Given the description of an element on the screen output the (x, y) to click on. 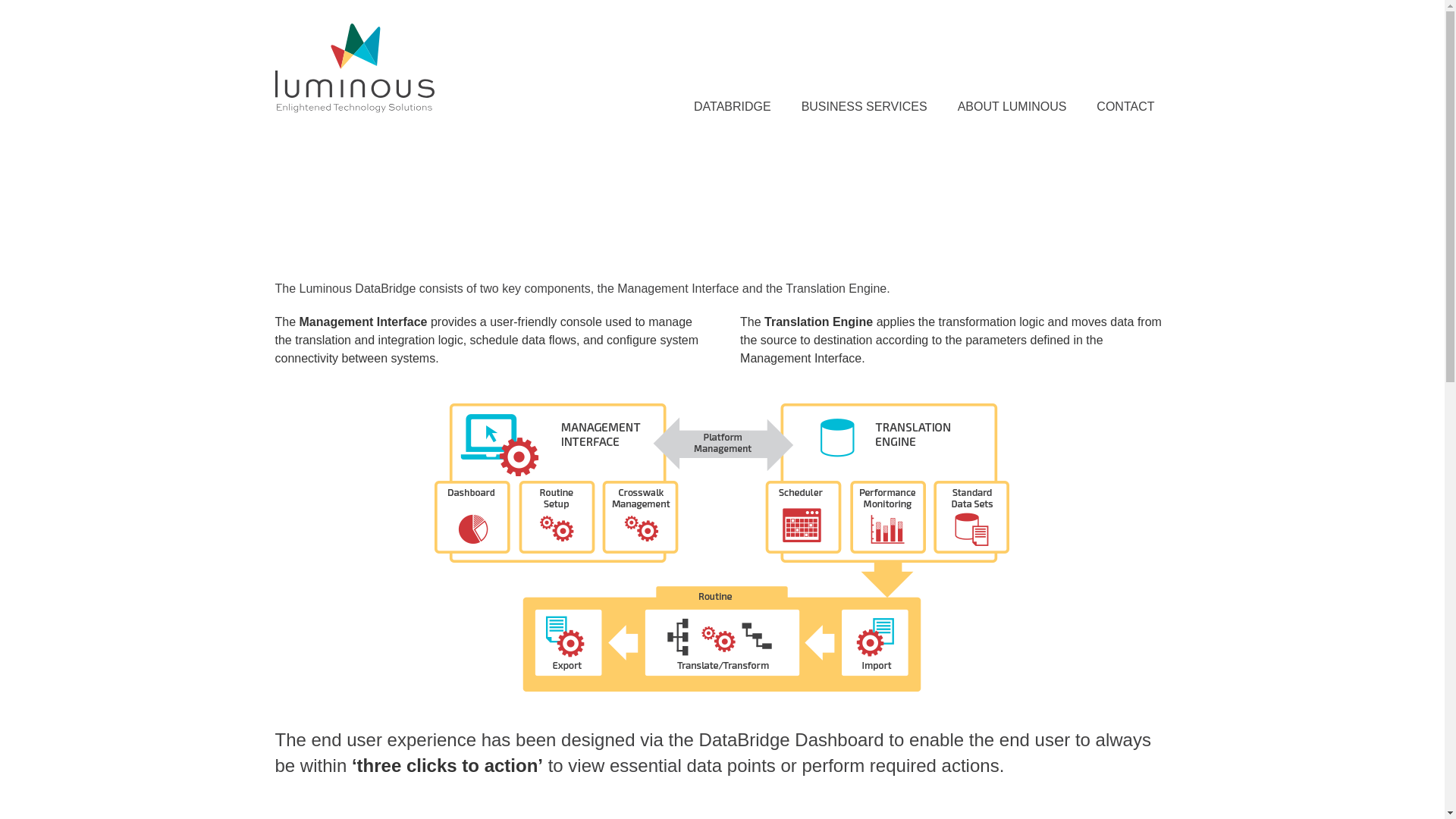
DATABRIDGE (732, 106)
CONTACT (1125, 106)
ABOUT LUMINOUS (1011, 106)
Luminous Development Group (354, 98)
BUSINESS SERVICES (864, 106)
